Given the description of an element on the screen output the (x, y) to click on. 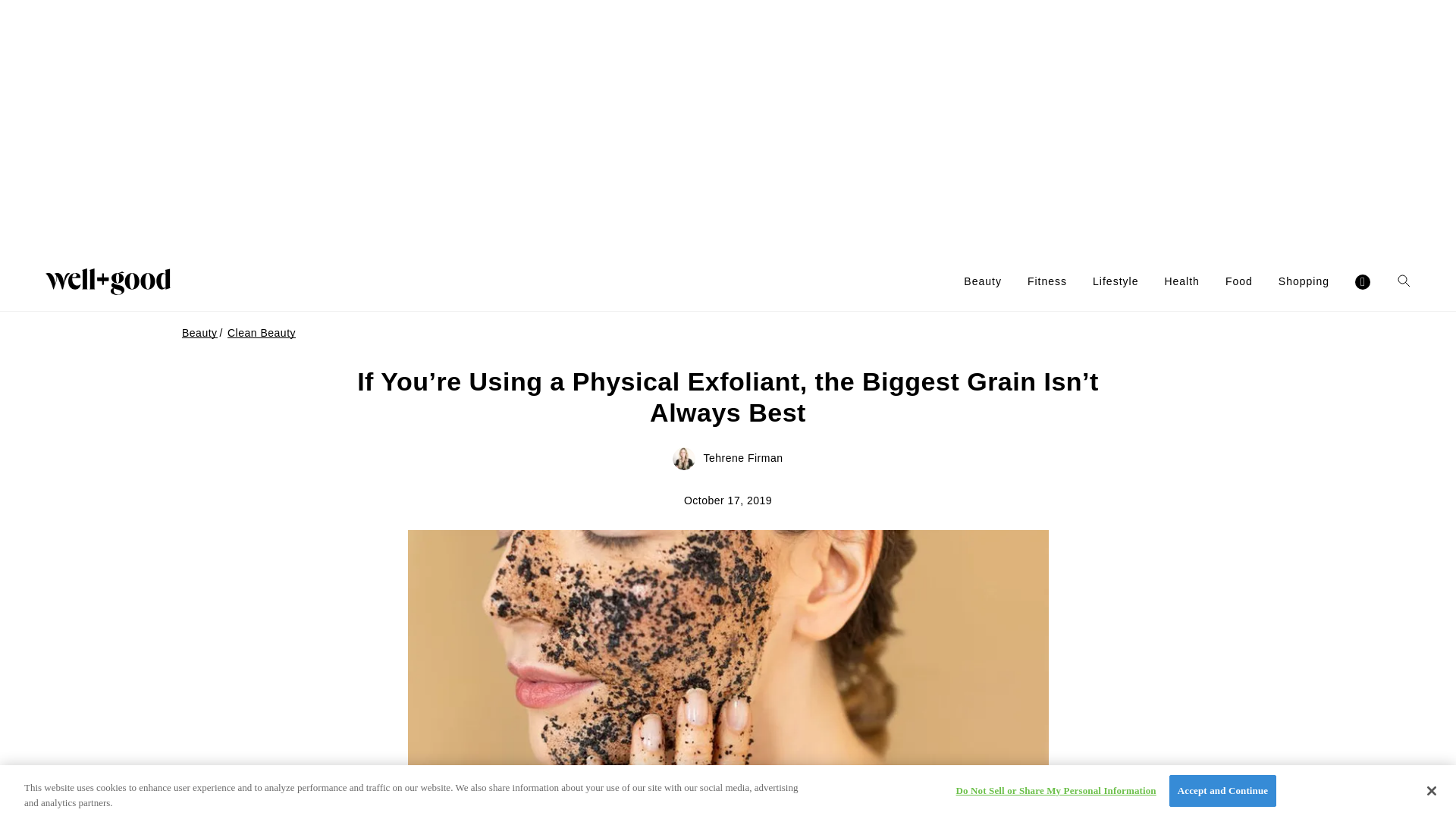
Shopping (1303, 281)
Health (1180, 281)
3rd party ad content (727, 126)
Beauty (982, 281)
Food (1238, 281)
Lifestyle (1115, 281)
Fitness (1047, 281)
